Given the description of an element on the screen output the (x, y) to click on. 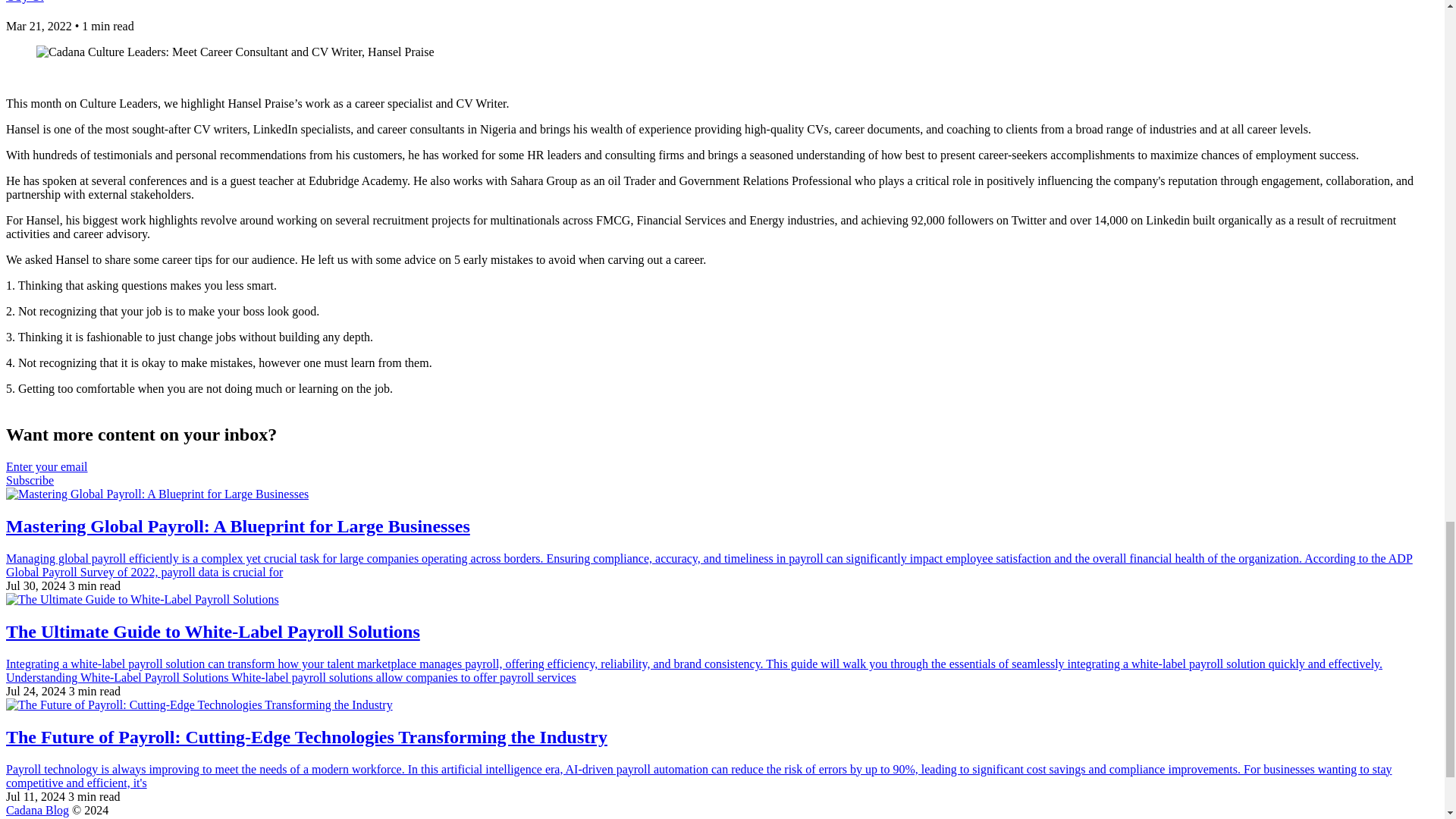
Oby O. (24, 1)
Cadana Blog (36, 809)
